Given the description of an element on the screen output the (x, y) to click on. 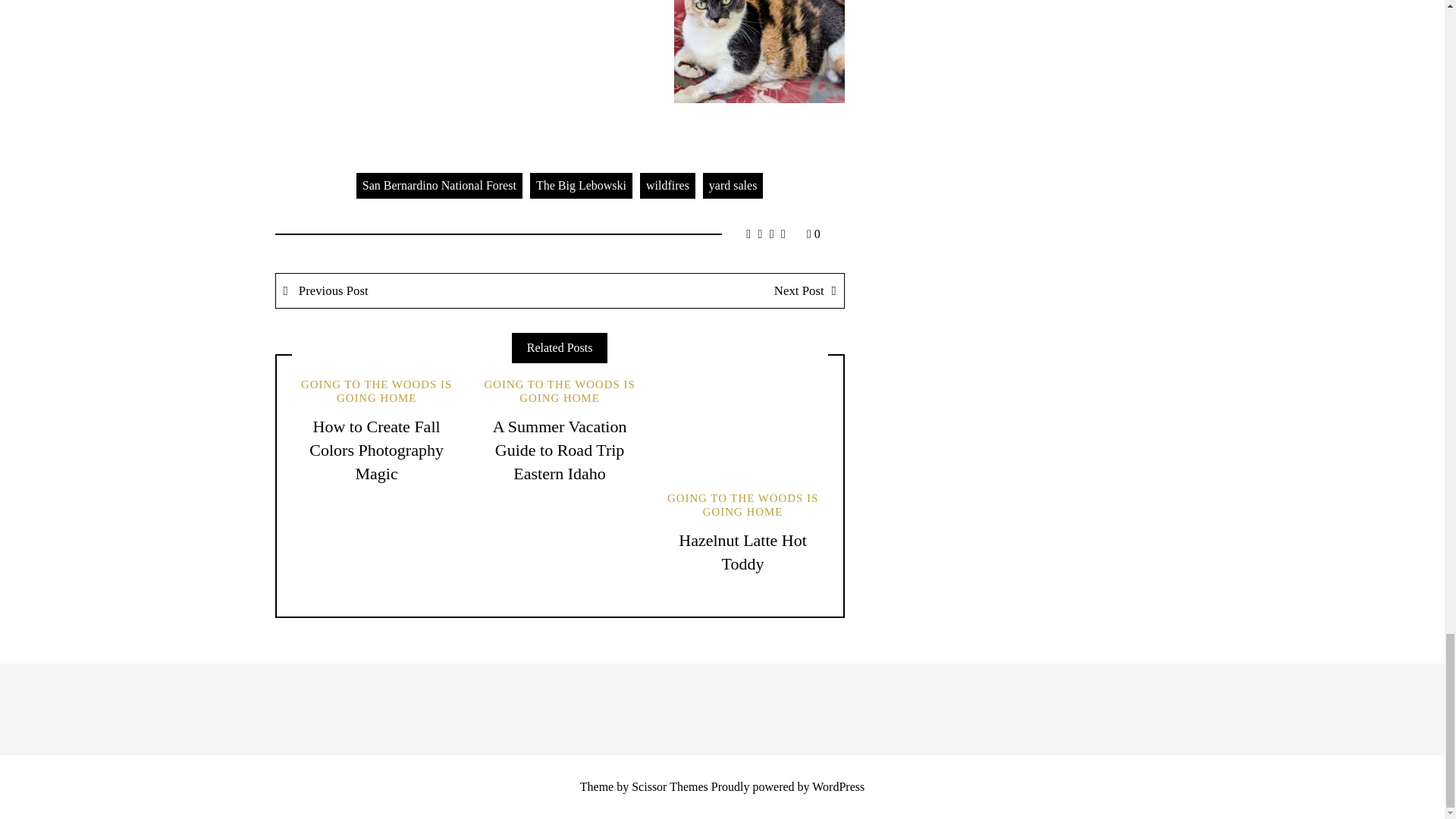
How to Create Fall Colors Photography Magic (376, 449)
A Summer Vacation Guide to Road Trip Eastern Idaho (560, 449)
Permalink to: "Hazelnut Latte Hot Toddy" (742, 426)
Hazelnut Latte Hot Toddy (742, 551)
